Given the description of an element on the screen output the (x, y) to click on. 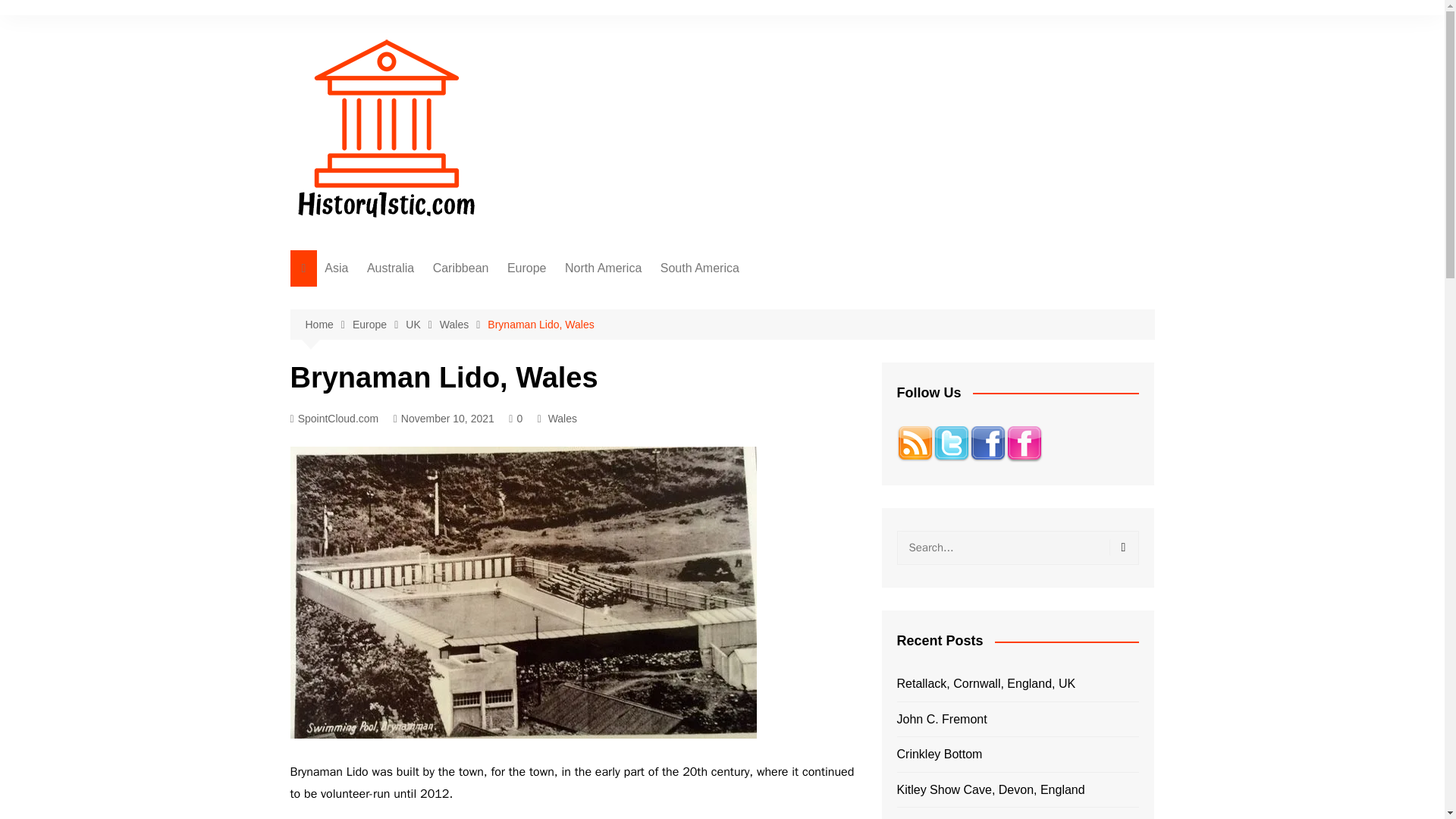
SpointCloud.com (333, 418)
Australia (390, 268)
Wales (749, 348)
Isle of Man (749, 398)
Ireland (749, 299)
Scotland (749, 373)
UK (582, 299)
Wales (463, 324)
Europe (379, 324)
Home (328, 324)
North America (603, 268)
Caribbean (460, 268)
Wales (562, 418)
US (640, 324)
Asia (336, 268)
